Given the description of an element on the screen output the (x, y) to click on. 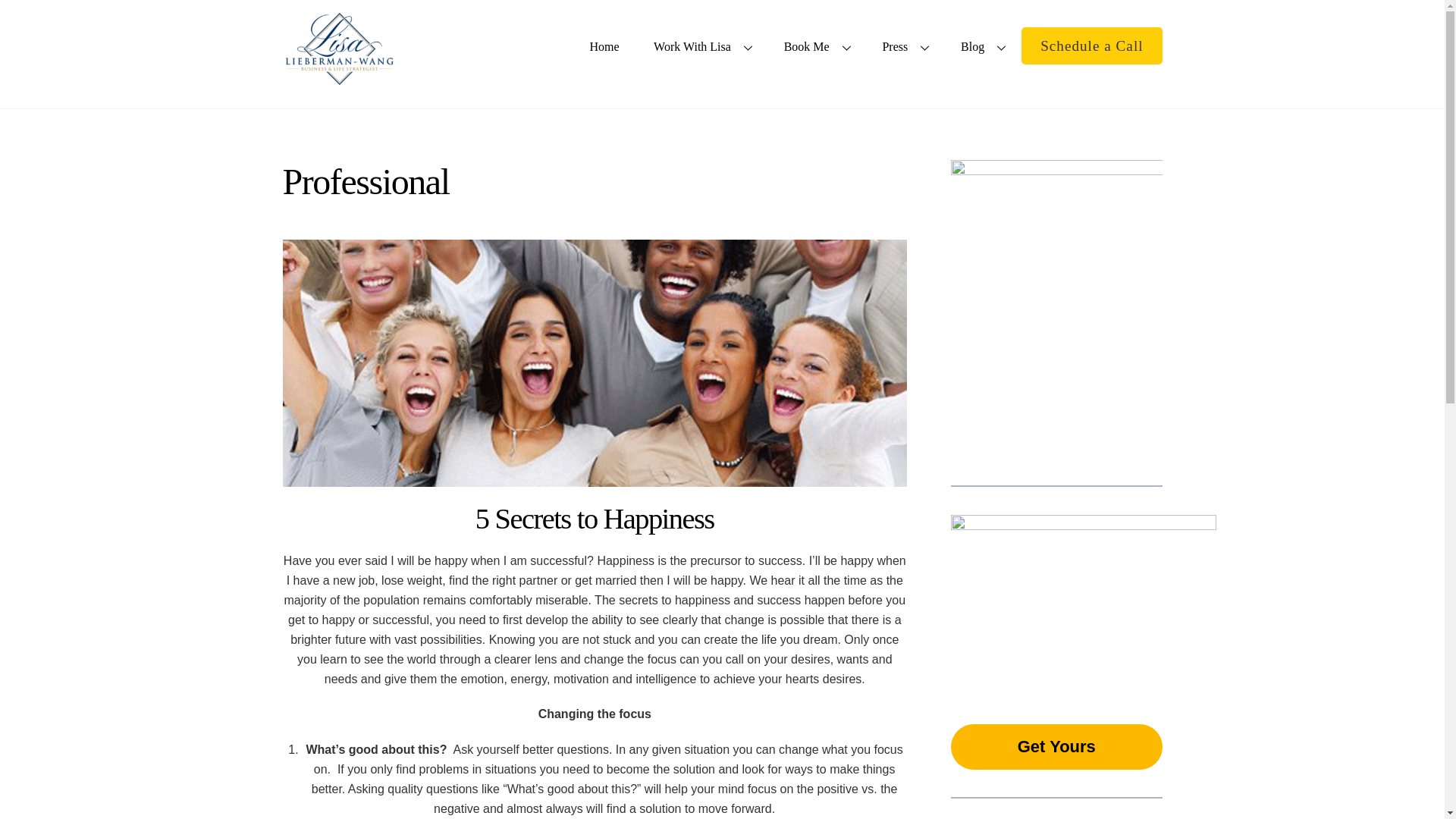
Blog (980, 46)
Press (904, 46)
5 Secrets to Happiness (595, 518)
Work With Lisa (701, 46)
Book Me (815, 46)
Lisa Lieberman Wang (339, 78)
Get Yours (1055, 746)
Schedule a Call (1091, 45)
Home (721, 38)
